Given the description of an element on the screen output the (x, y) to click on. 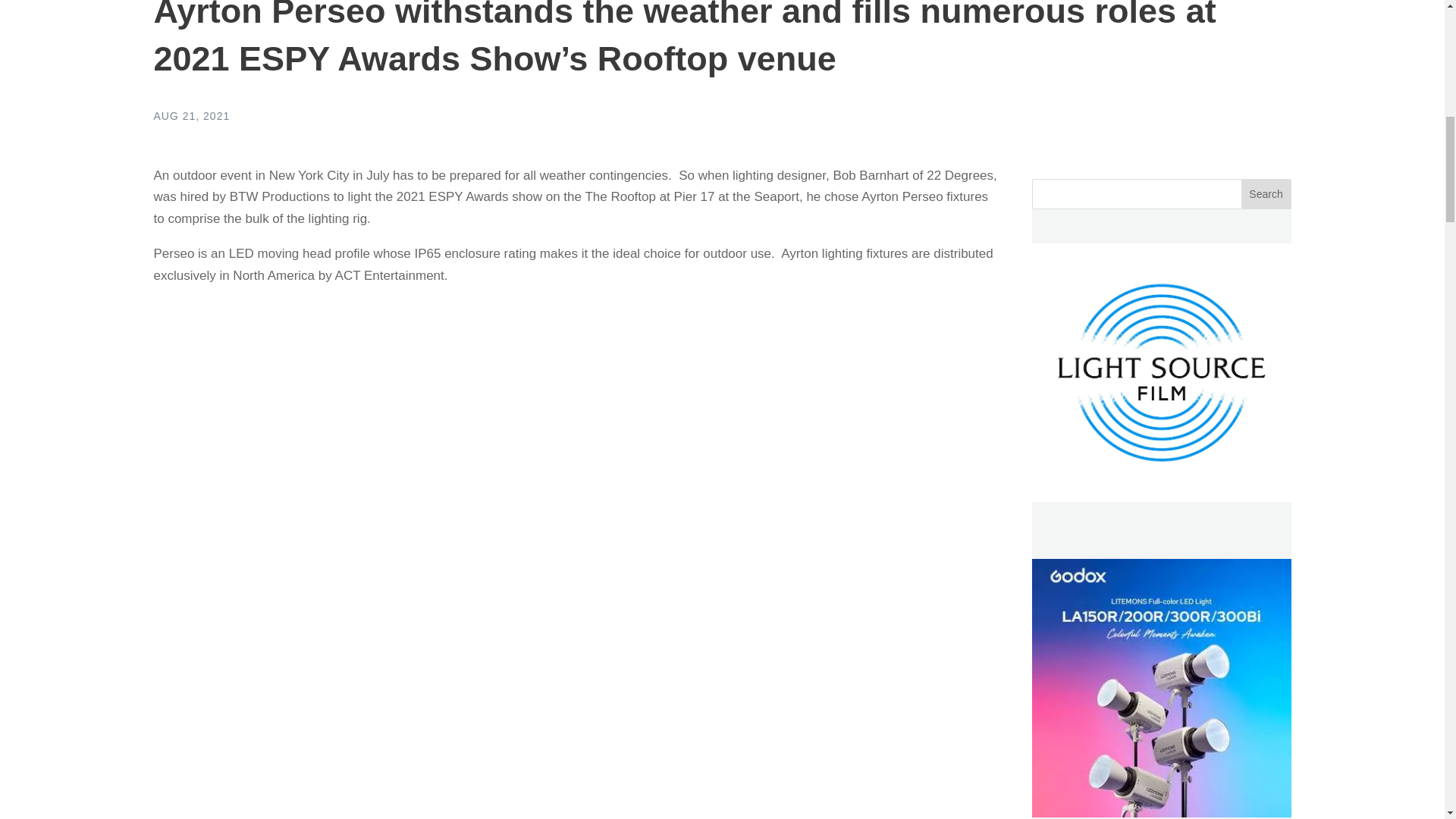
Search (1266, 194)
Search (1266, 194)
